Given the description of an element on the screen output the (x, y) to click on. 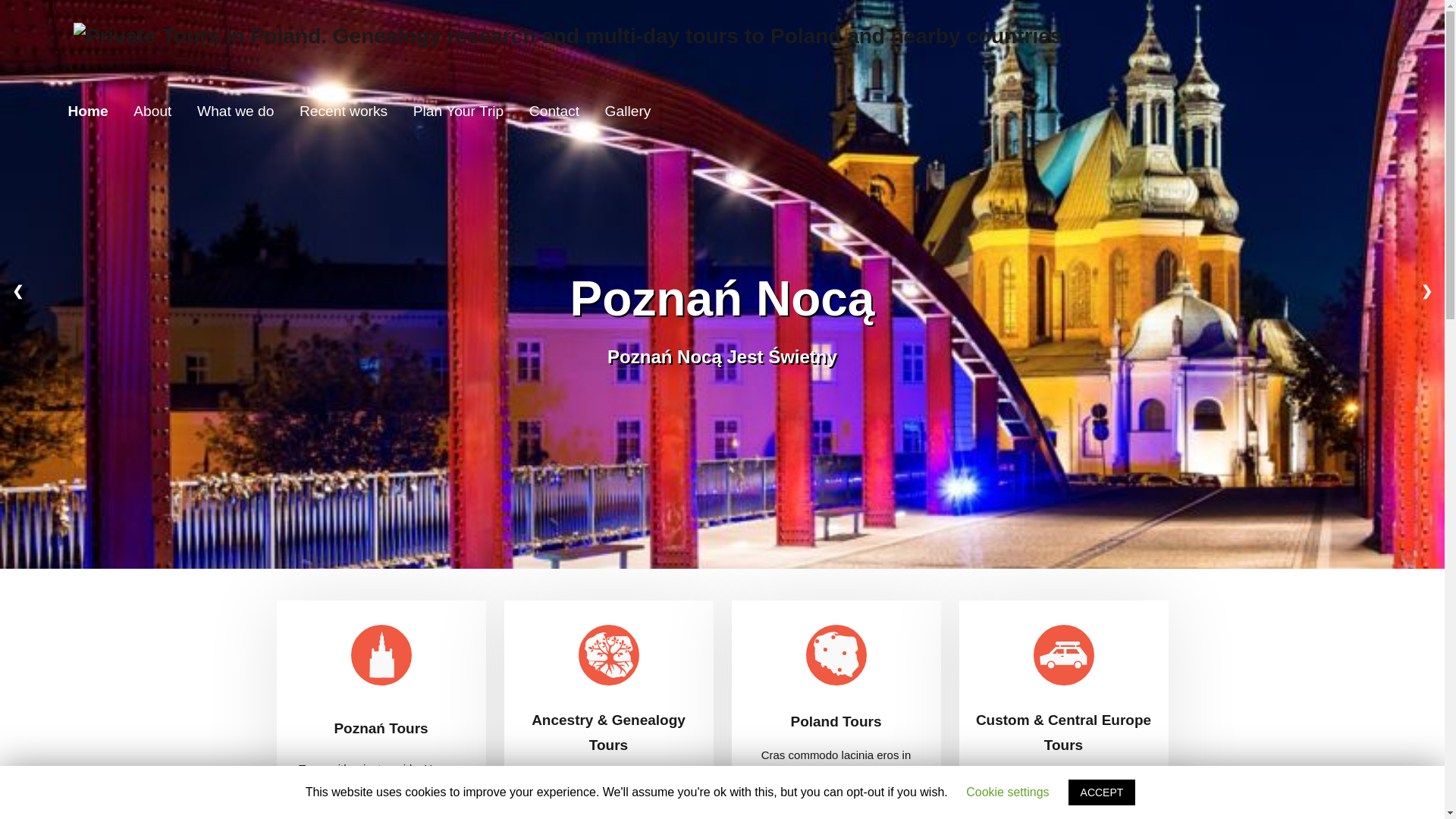
Gallery (627, 110)
Contact (554, 110)
Recent works (343, 110)
About (152, 110)
Plan Your Trip (458, 110)
Poznan Tours (568, 33)
Home (87, 110)
ACCEPT (1101, 792)
Cookie settings (1007, 791)
What we do (235, 110)
